Given the description of an element on the screen output the (x, y) to click on. 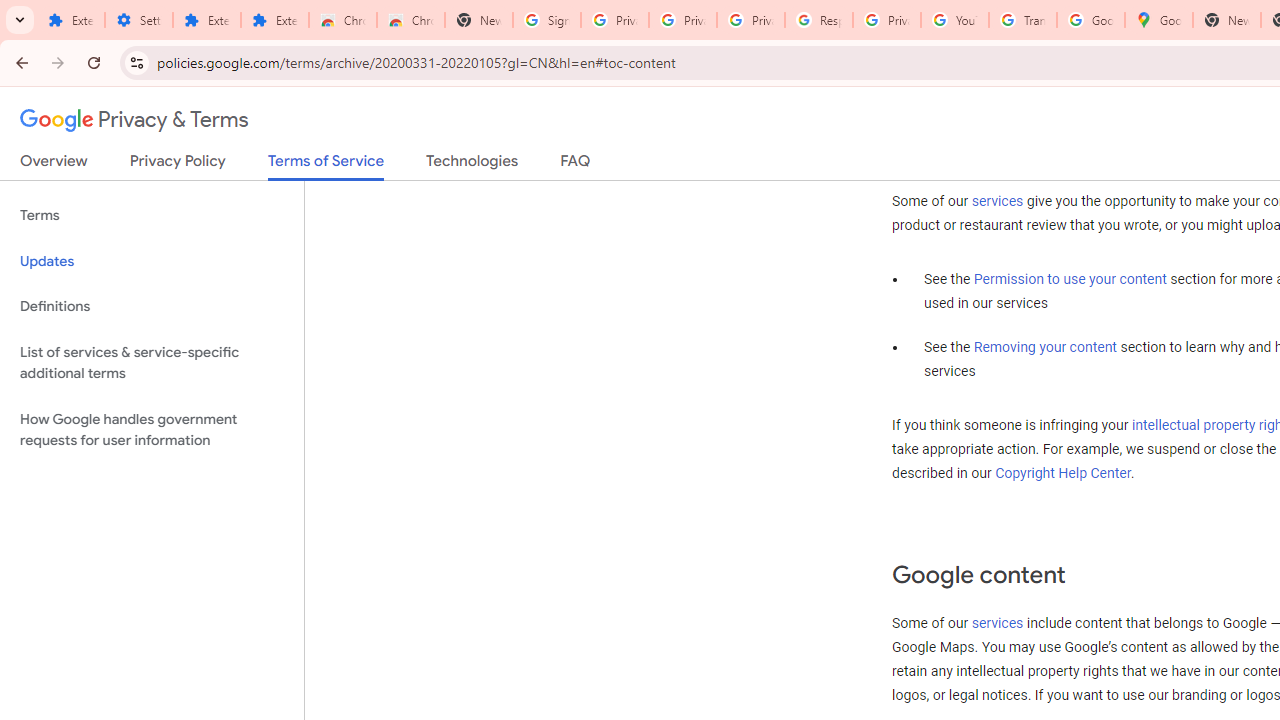
Extensions (206, 20)
Removing your content (1044, 348)
services (997, 623)
